Given the description of an element on the screen output the (x, y) to click on. 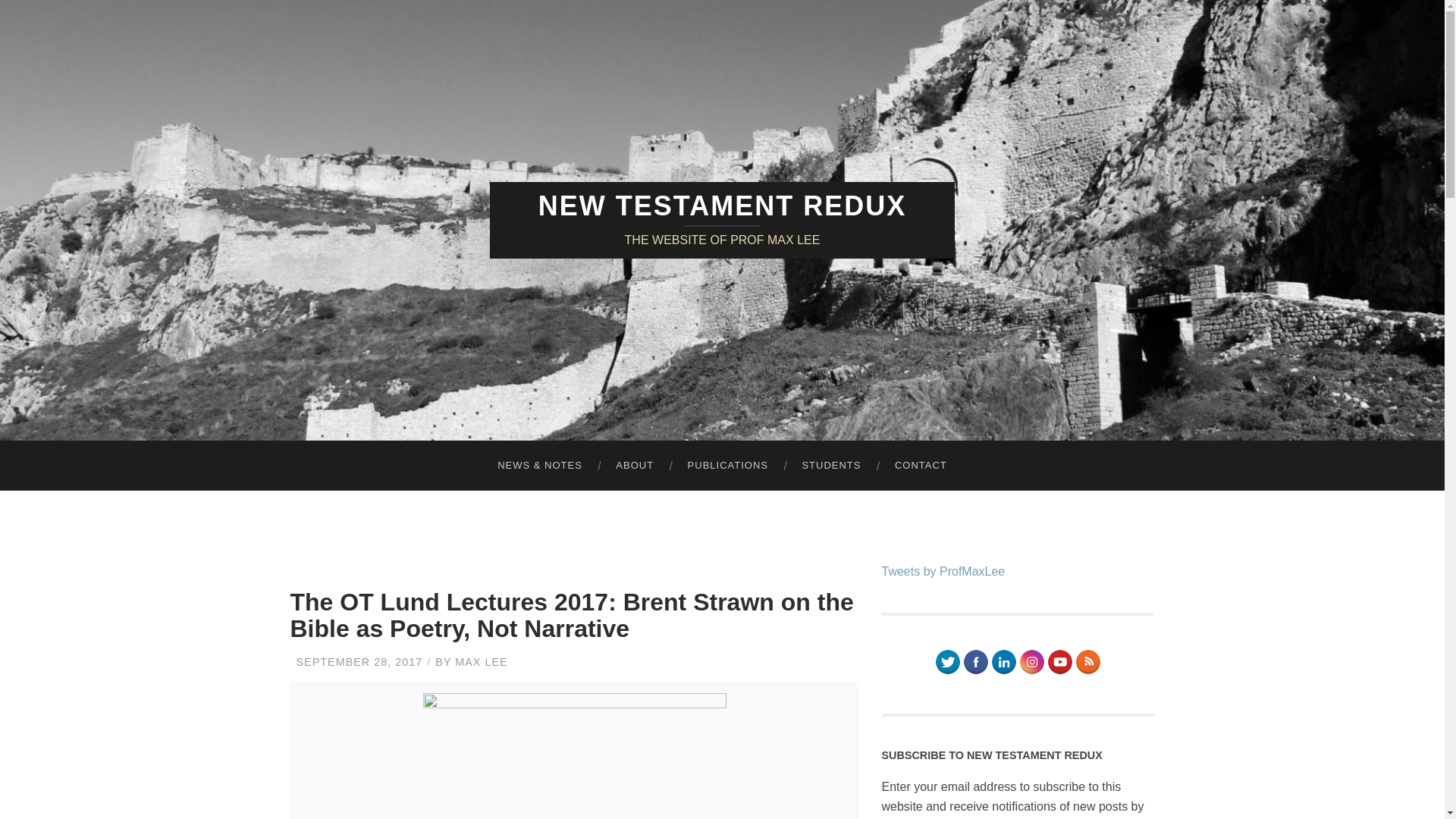
NEW TESTAMENT REDUX (721, 205)
Visit Us On Instagram (1031, 671)
SEPTEMBER 28, 2017 (358, 662)
CONTACT (920, 465)
Visit Us On Twitter (946, 671)
Visit Us On Youtube (1059, 671)
Visit Us On Linkedin (1003, 671)
ABOUT (633, 465)
MAX LEE (480, 662)
STUDENTS (831, 465)
Visit Us On Facebook (975, 671)
Check Our Feed (1088, 671)
Tweets by ProfMaxLee (942, 571)
PUBLICATIONS (727, 465)
